Given the description of an element on the screen output the (x, y) to click on. 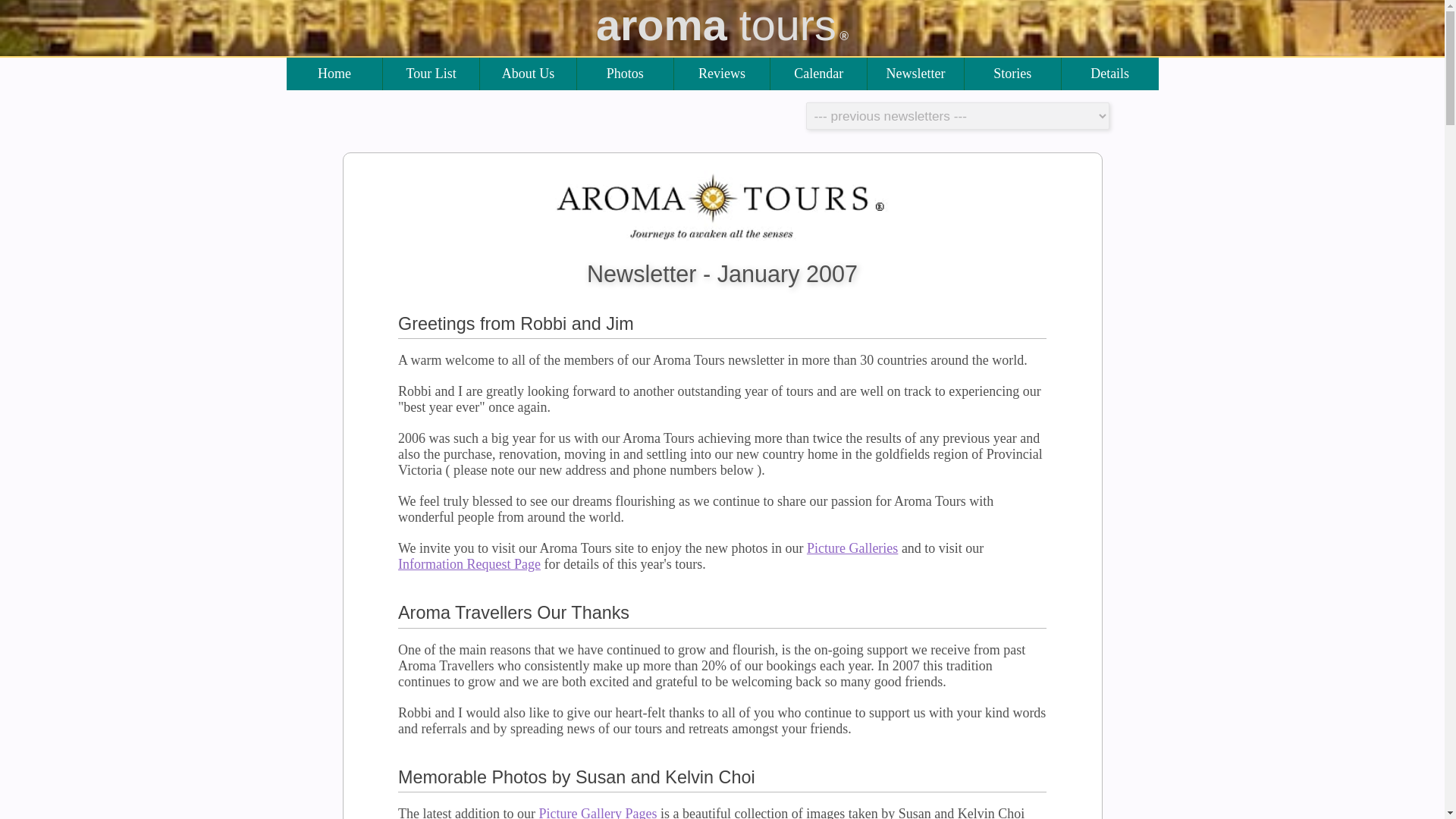
Stories (1012, 73)
Picture Galleries (852, 548)
Home (335, 73)
About Us (528, 73)
Reviews (722, 73)
Photos (625, 73)
Information Request Page (468, 563)
Details (1109, 73)
Calendar (818, 73)
Picture Gallery Pages (597, 812)
